Given the description of an element on the screen output the (x, y) to click on. 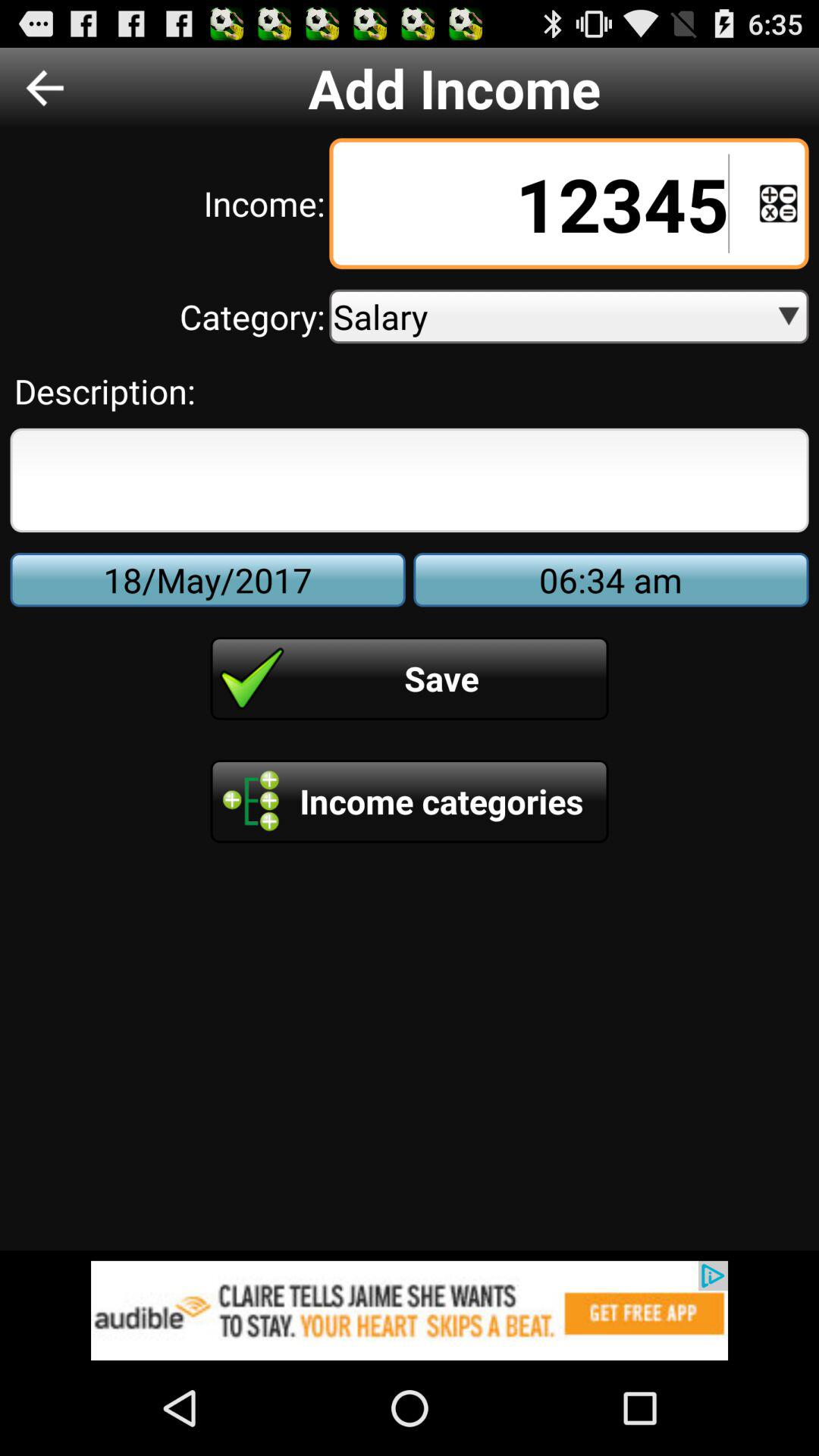
calculate (778, 203)
